Given the description of an element on the screen output the (x, y) to click on. 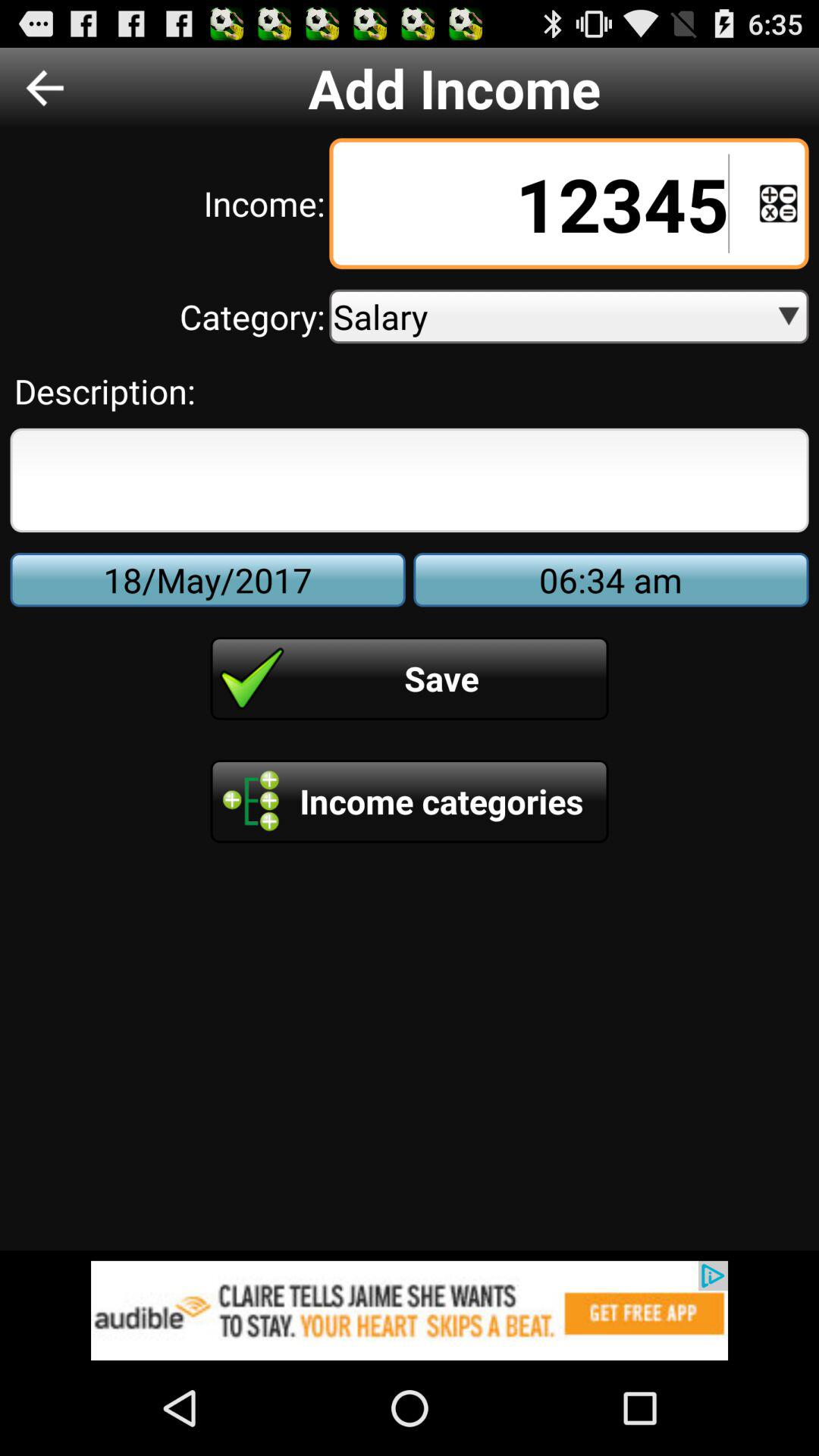
calculate (778, 203)
